Given the description of an element on the screen output the (x, y) to click on. 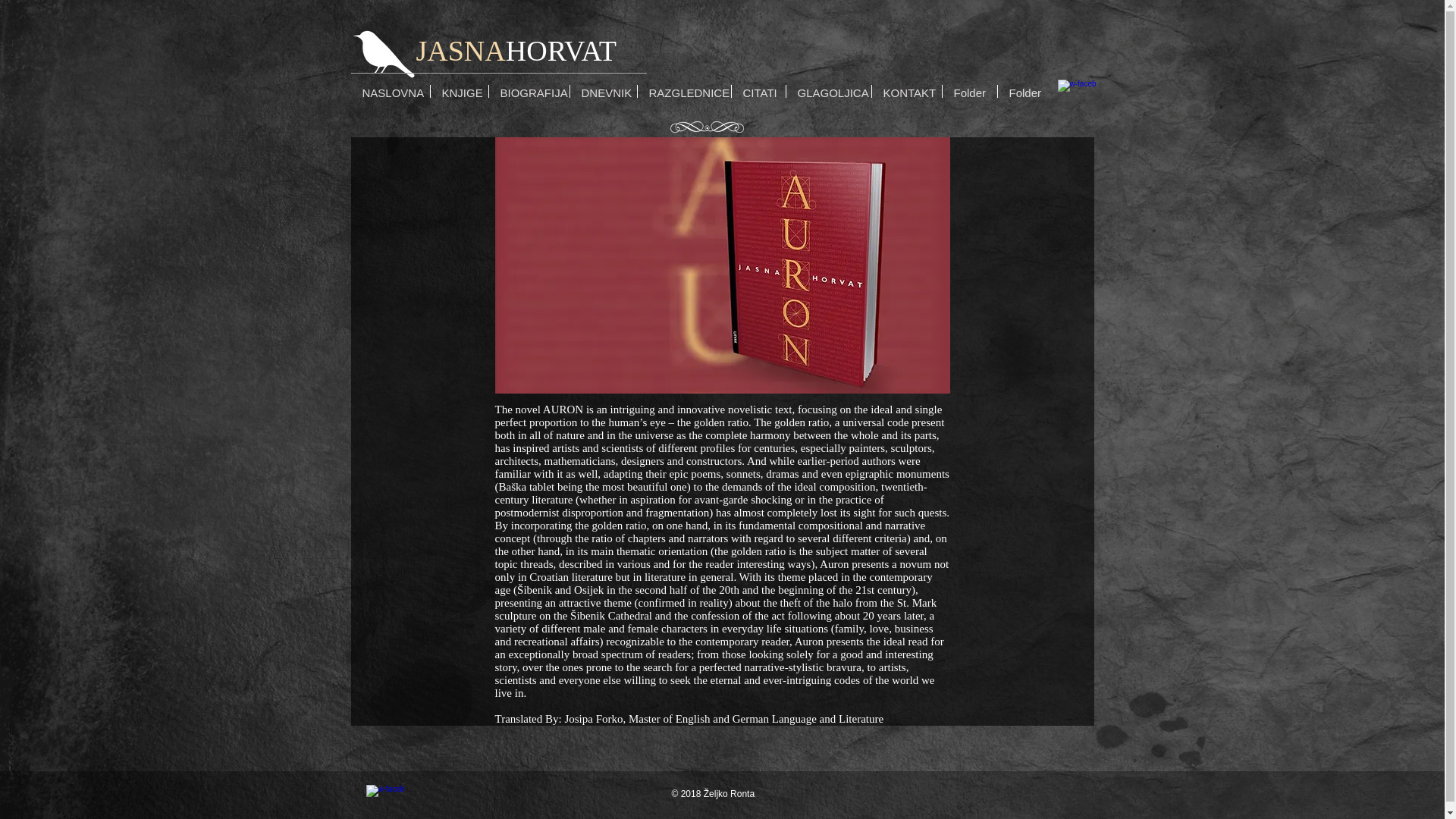
GLAGOLJICA (828, 91)
CITATI (757, 91)
NASLOVNA (389, 91)
KNJIGE (458, 91)
KONTAKT (907, 91)
RAZGLEDNICE (683, 91)
BIOGRAFIJA (528, 91)
1.png (706, 126)
DNEVNIK (603, 91)
JASNAHORVAT (514, 50)
